Given the description of an element on the screen output the (x, y) to click on. 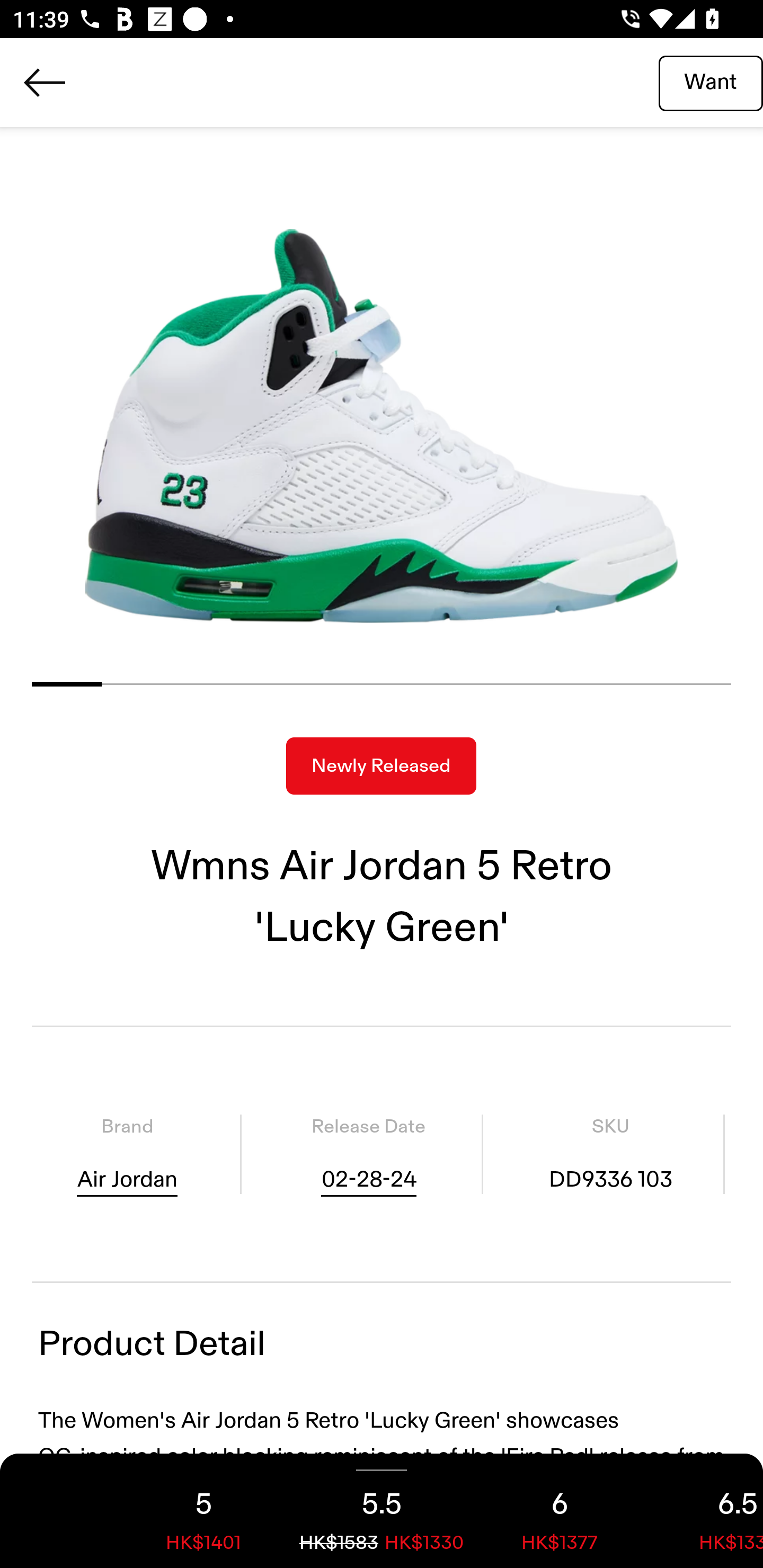
Want (710, 82)
Newly Released (381, 765)
Brand Air Jordan (126, 1153)
Release Date 02-28-24 (368, 1153)
SKU DD9336 103 (609, 1153)
5 HK$1401 (203, 1510)
5.5 HK$1583 HK$1330 (381, 1510)
6 HK$1377 (559, 1510)
6.5 HK$1337 (705, 1510)
